Given the description of an element on the screen output the (x, y) to click on. 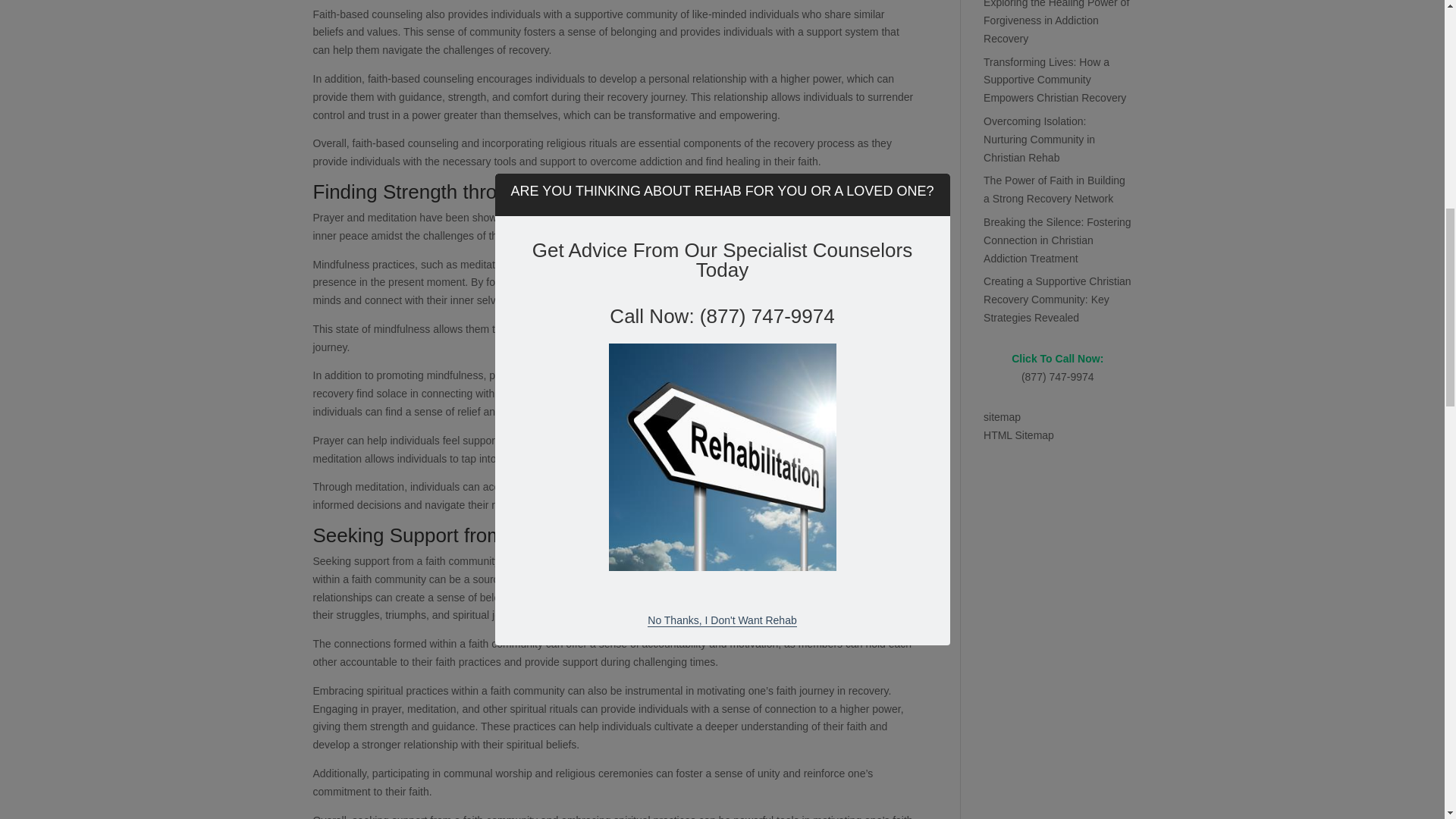
The Power of Faith in Building a Strong Recovery Network (1054, 189)
Overcoming Isolation: Nurturing Community in Christian Rehab (1039, 139)
